Given the description of an element on the screen output the (x, y) to click on. 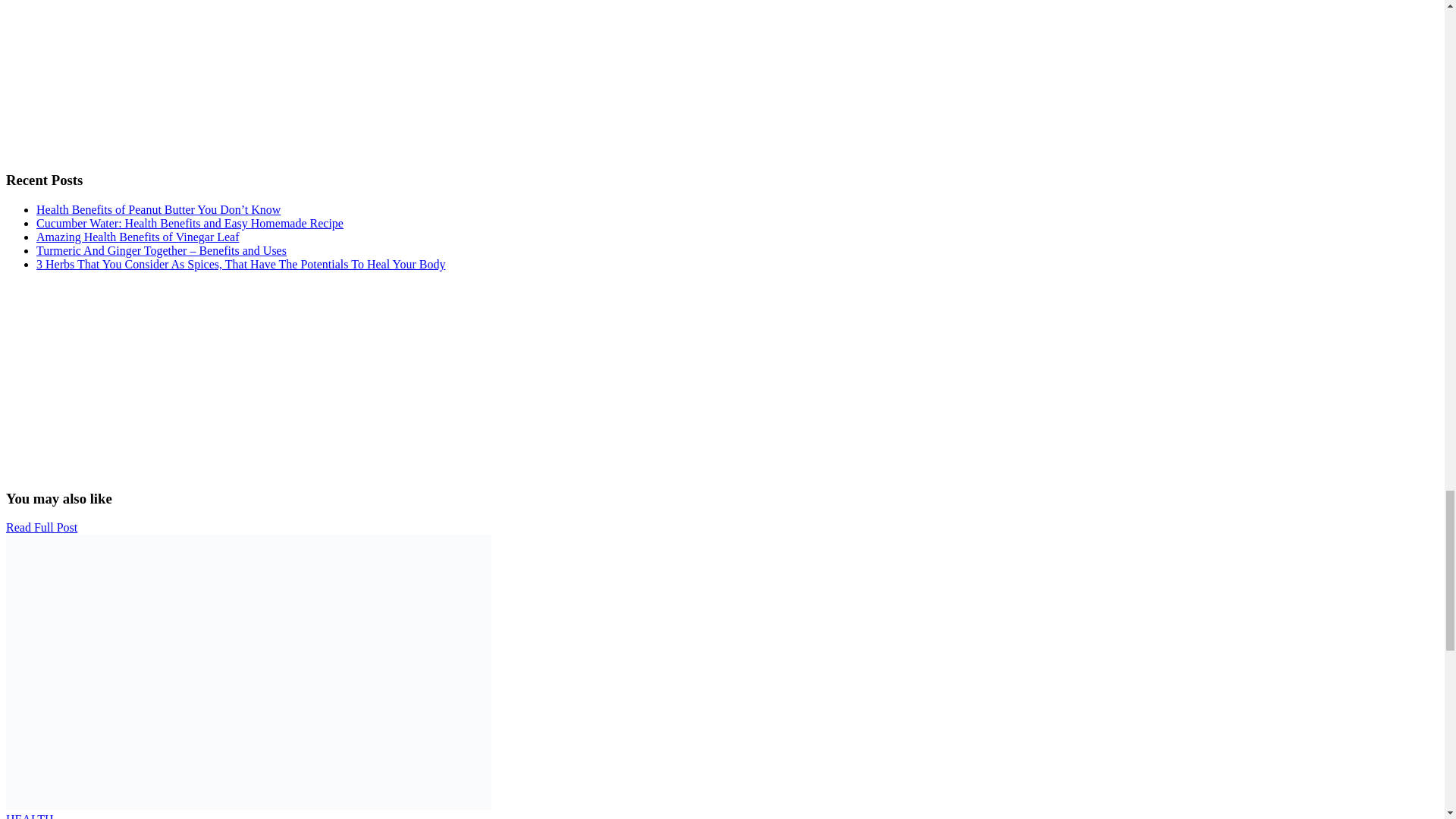
HEALTH (29, 816)
Cucumber Water: Health Benefits and Easy Homemade Recipe (189, 223)
Amazing Health Benefits of Vinegar Leaf (138, 236)
